Given the description of an element on the screen output the (x, y) to click on. 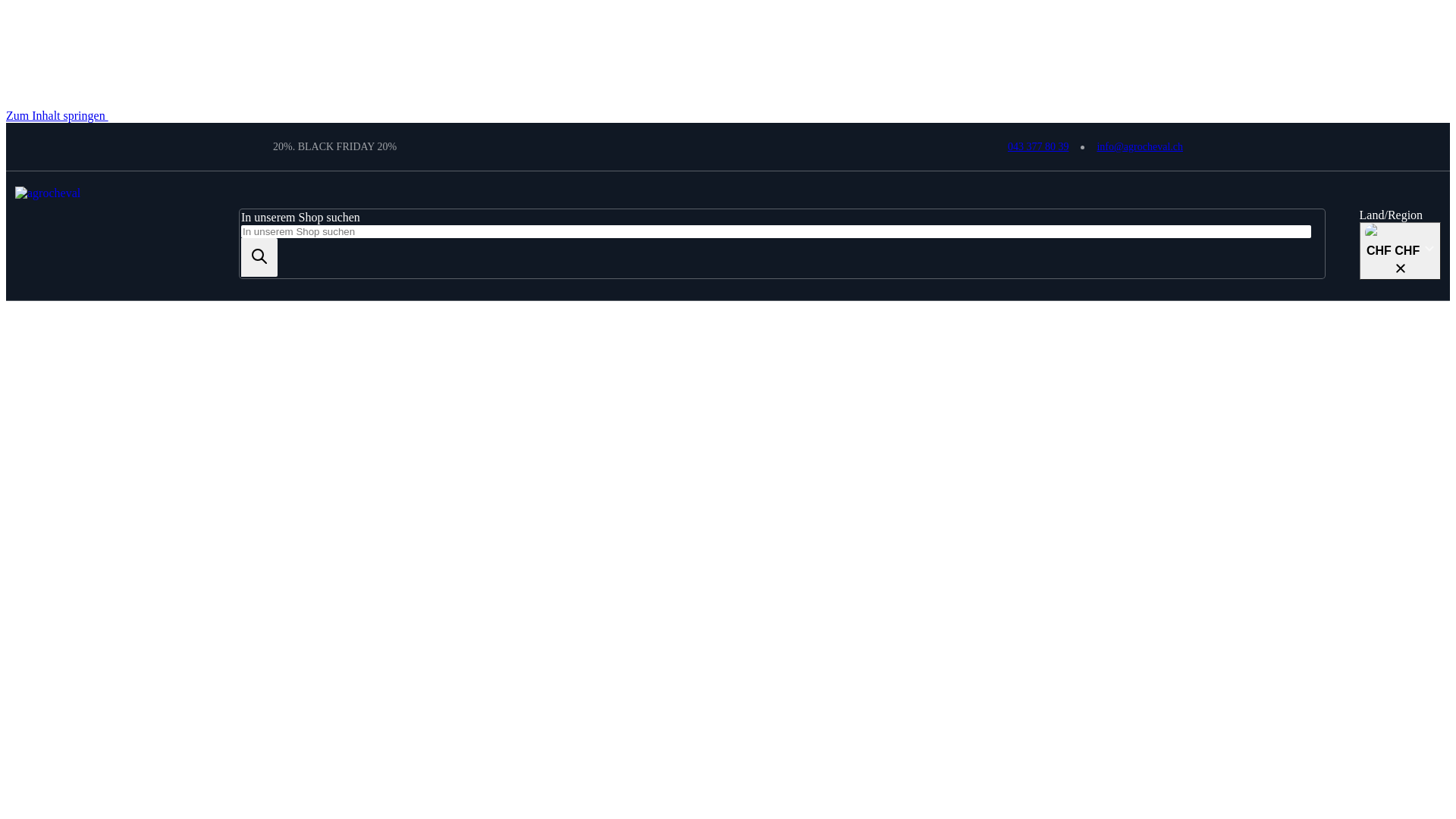
Zum Inhalt springen Element type: text (57, 115)
info@agrocheval.ch Element type: text (1139, 146)
043 377 80 39 Element type: text (1038, 146)
